Given the description of an element on the screen output the (x, y) to click on. 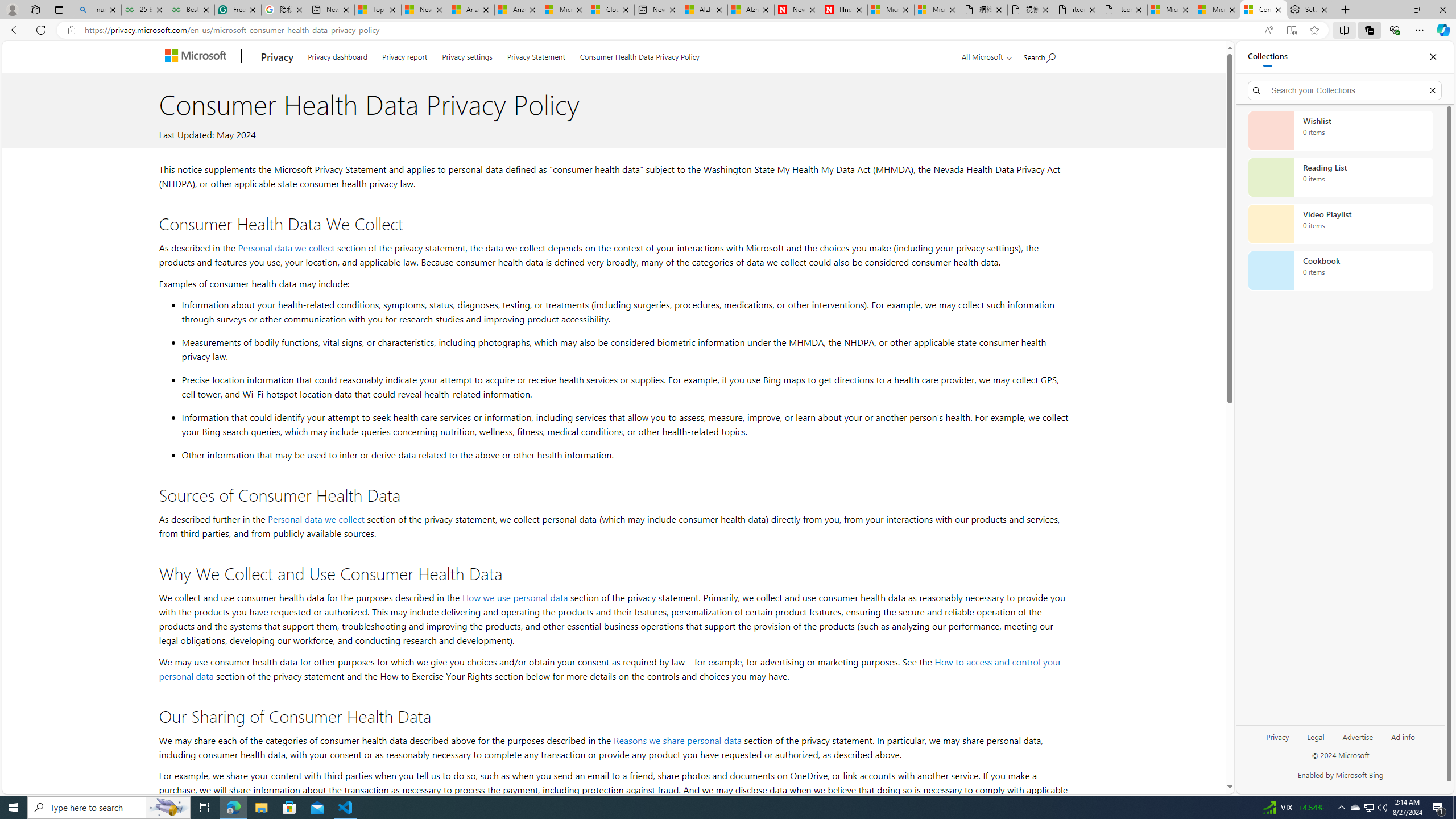
Video Playlist collection, 0 items (1339, 223)
Legal (1315, 736)
Illness news & latest pictures from Newsweek.com (844, 9)
Consumer Health Data Privacy Policy (639, 54)
Privacy settings (466, 54)
